Given the description of an element on the screen output the (x, y) to click on. 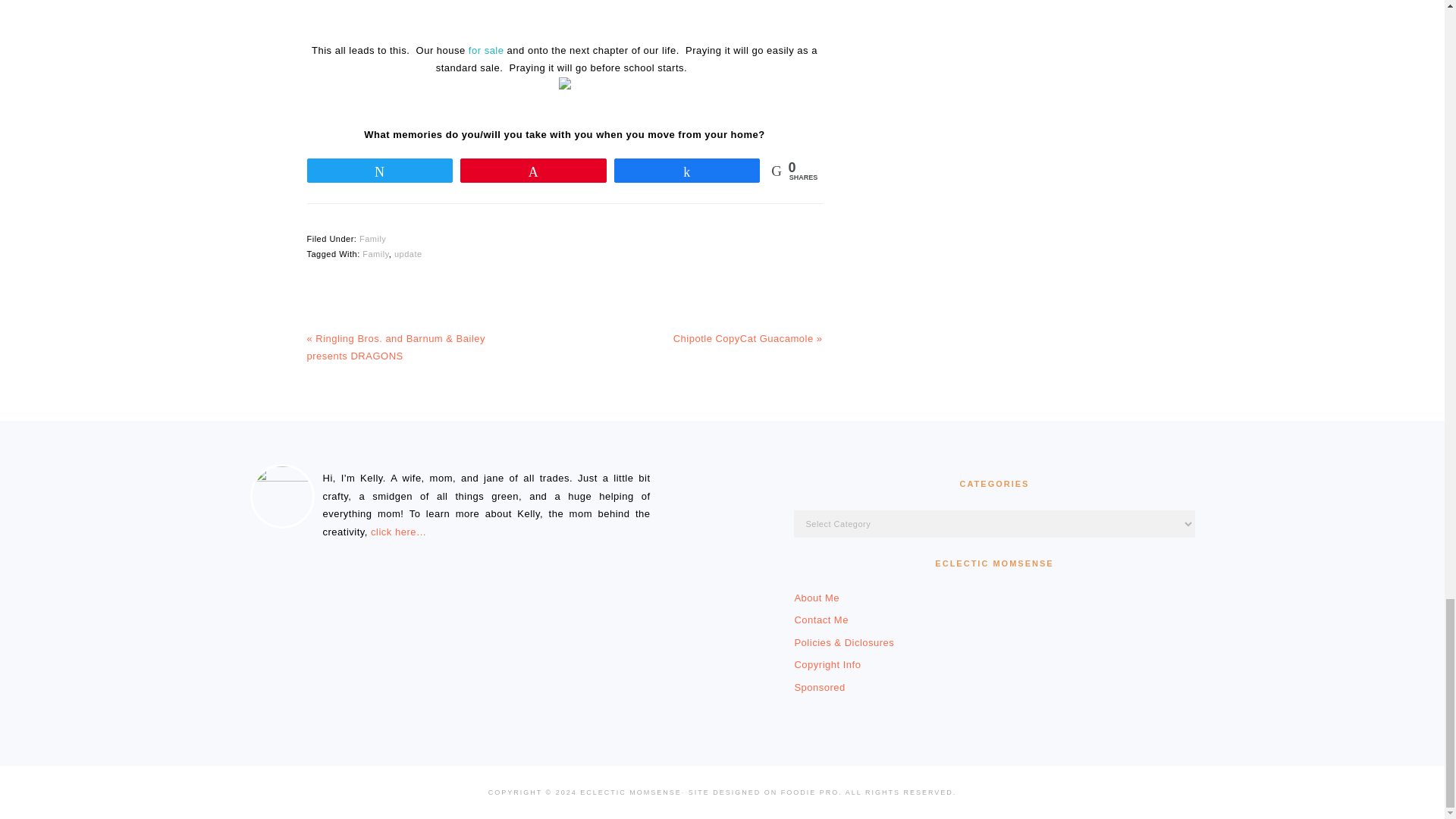
Family (375, 253)
Family (372, 238)
update (408, 253)
for sale (485, 50)
